Given the description of an element on the screen output the (x, y) to click on. 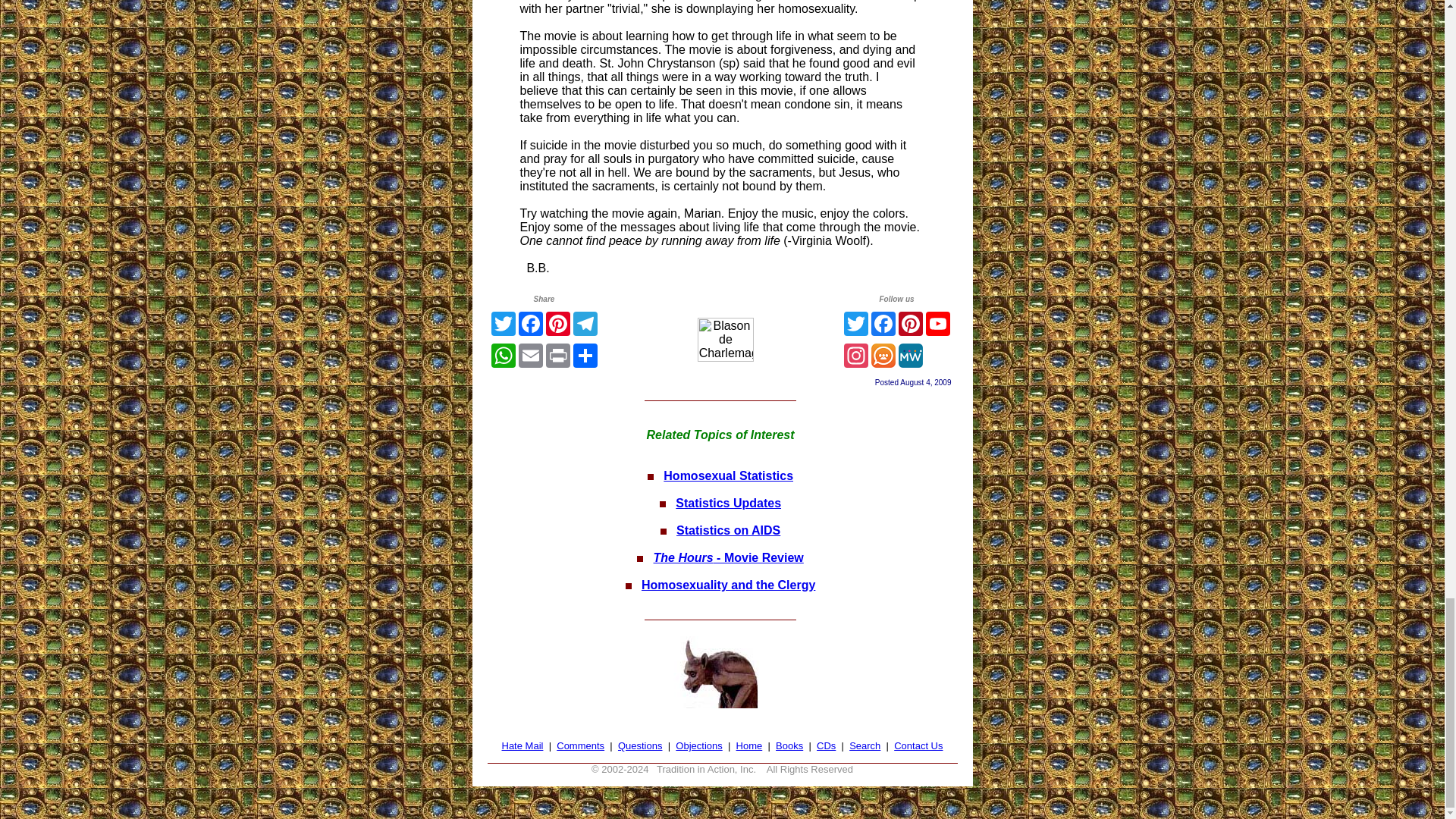
Email (530, 355)
Questions (639, 745)
Hate Mail (522, 745)
Print (558, 355)
Comments (580, 745)
WhatsApp (502, 355)
Statistics Updates (727, 502)
Twitter (855, 323)
Instagram (855, 355)
YouTube (936, 323)
